Given the description of an element on the screen output the (x, y) to click on. 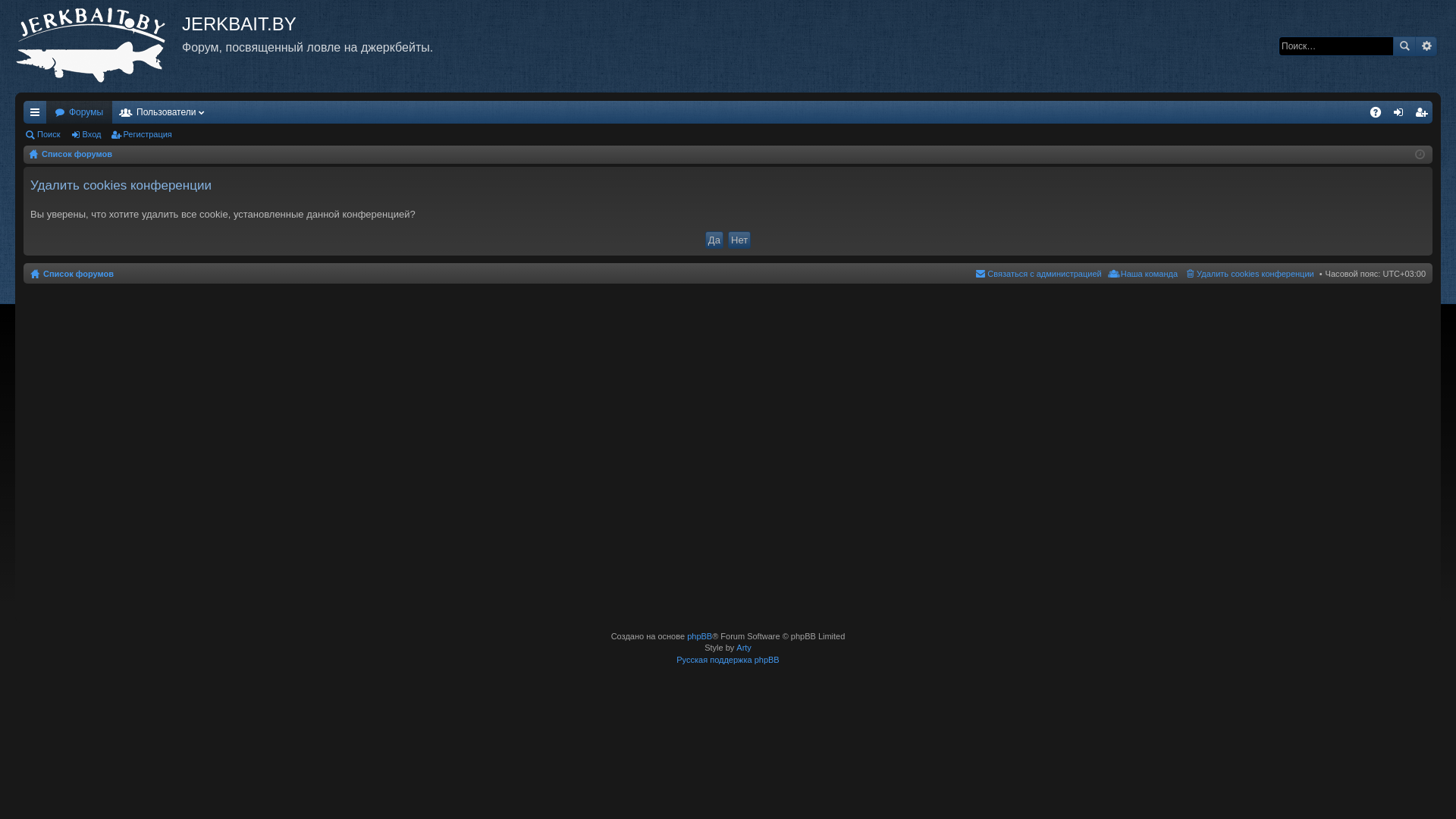
FAQ Element type: text (1375, 111)
phpBB Element type: text (699, 635)
Arty Element type: text (743, 647)
